Given the description of an element on the screen output the (x, y) to click on. 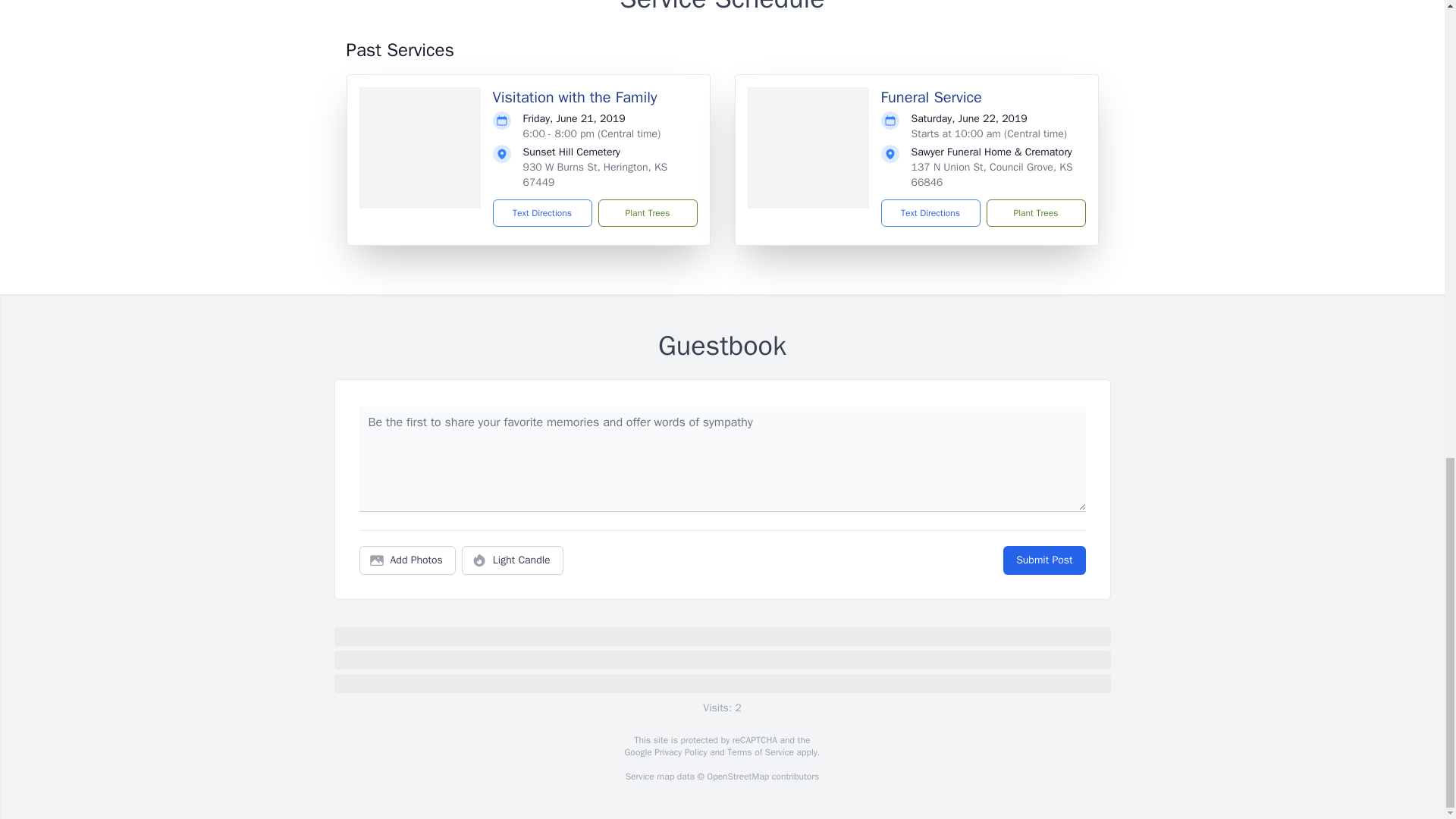
Text Directions (542, 212)
Light Candle (512, 560)
Add Photos (407, 560)
Terms of Service (759, 752)
Privacy Policy (679, 752)
137 N Union St, Council Grove, KS 66846 (992, 174)
Text Directions (929, 212)
OpenStreetMap (737, 776)
930 W Burns St, Herington, KS 67449 (595, 174)
Plant Trees (1034, 212)
